Given the description of an element on the screen output the (x, y) to click on. 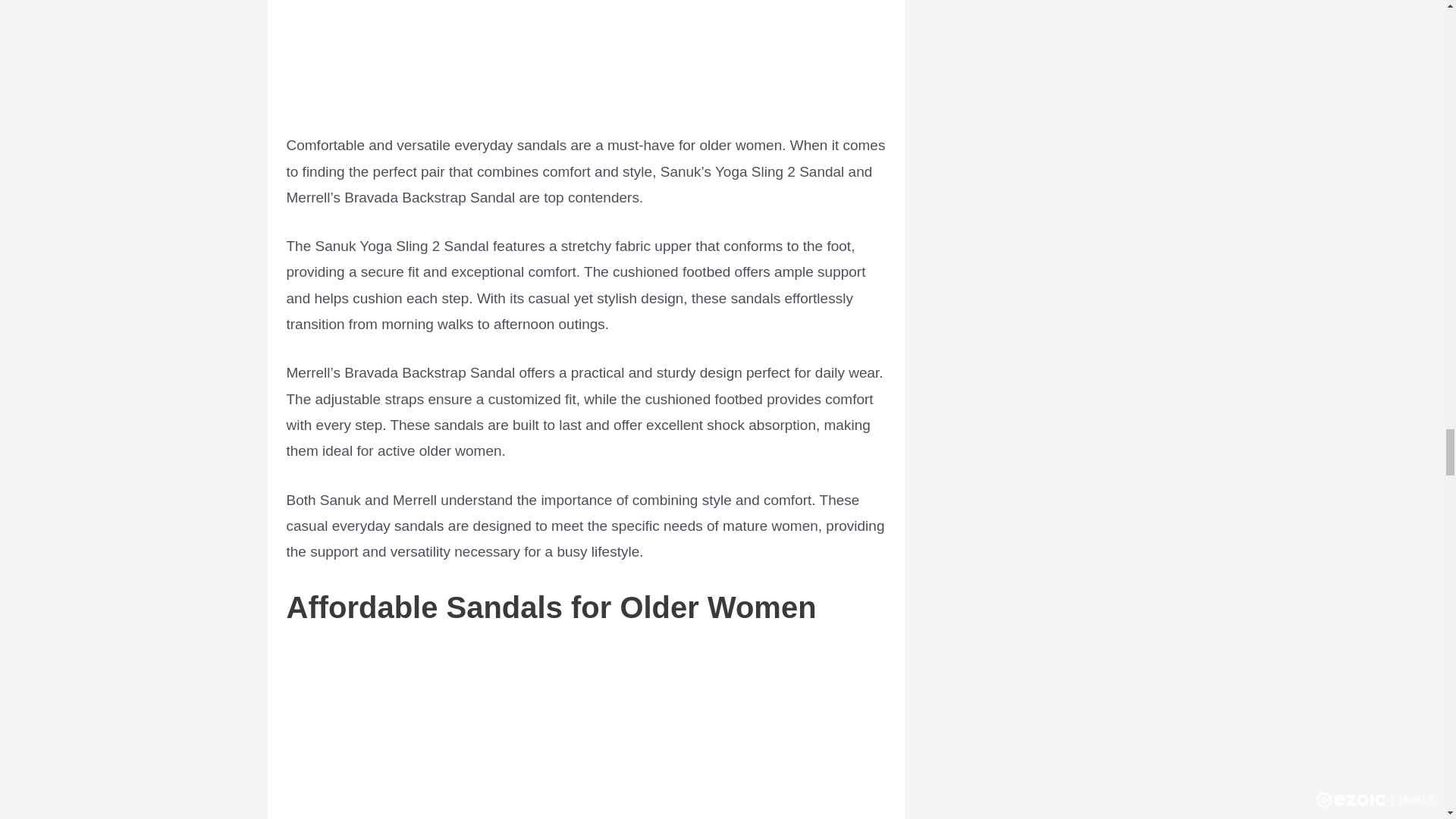
casual everyday sandals for older women (585, 54)
12 BEST SANDALS for Women Over 50 (585, 734)
